Given the description of an element on the screen output the (x, y) to click on. 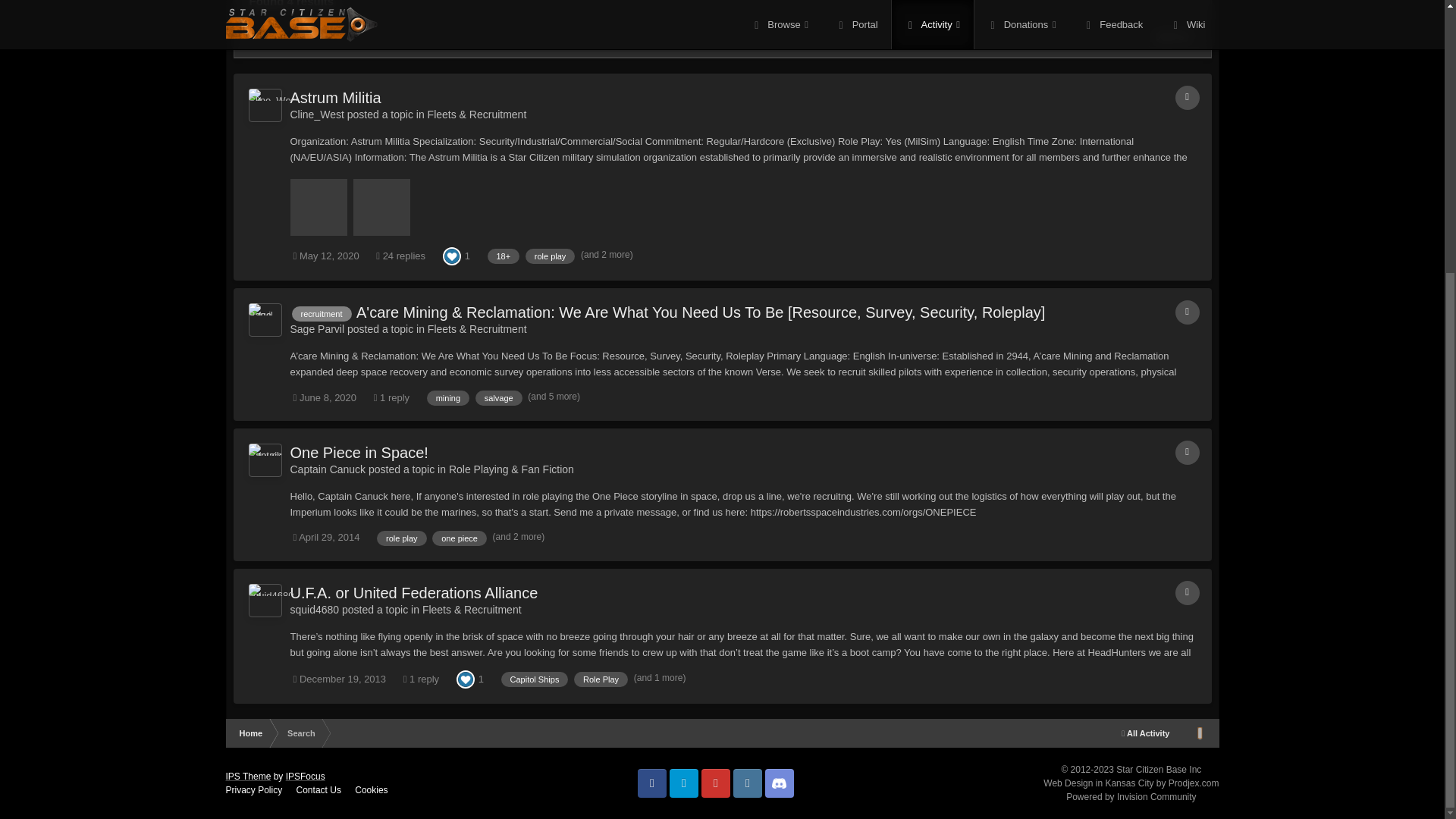
See who reacted "Like" (451, 255)
Go to Sage Parvil's profile (265, 319)
Find other content tagged with 'recruitment' (320, 313)
Go to Sage Parvil's profile (316, 328)
Topic (1186, 312)
Topic (1186, 97)
Find other content tagged with 'role play' (550, 255)
